Given the description of an element on the screen output the (x, y) to click on. 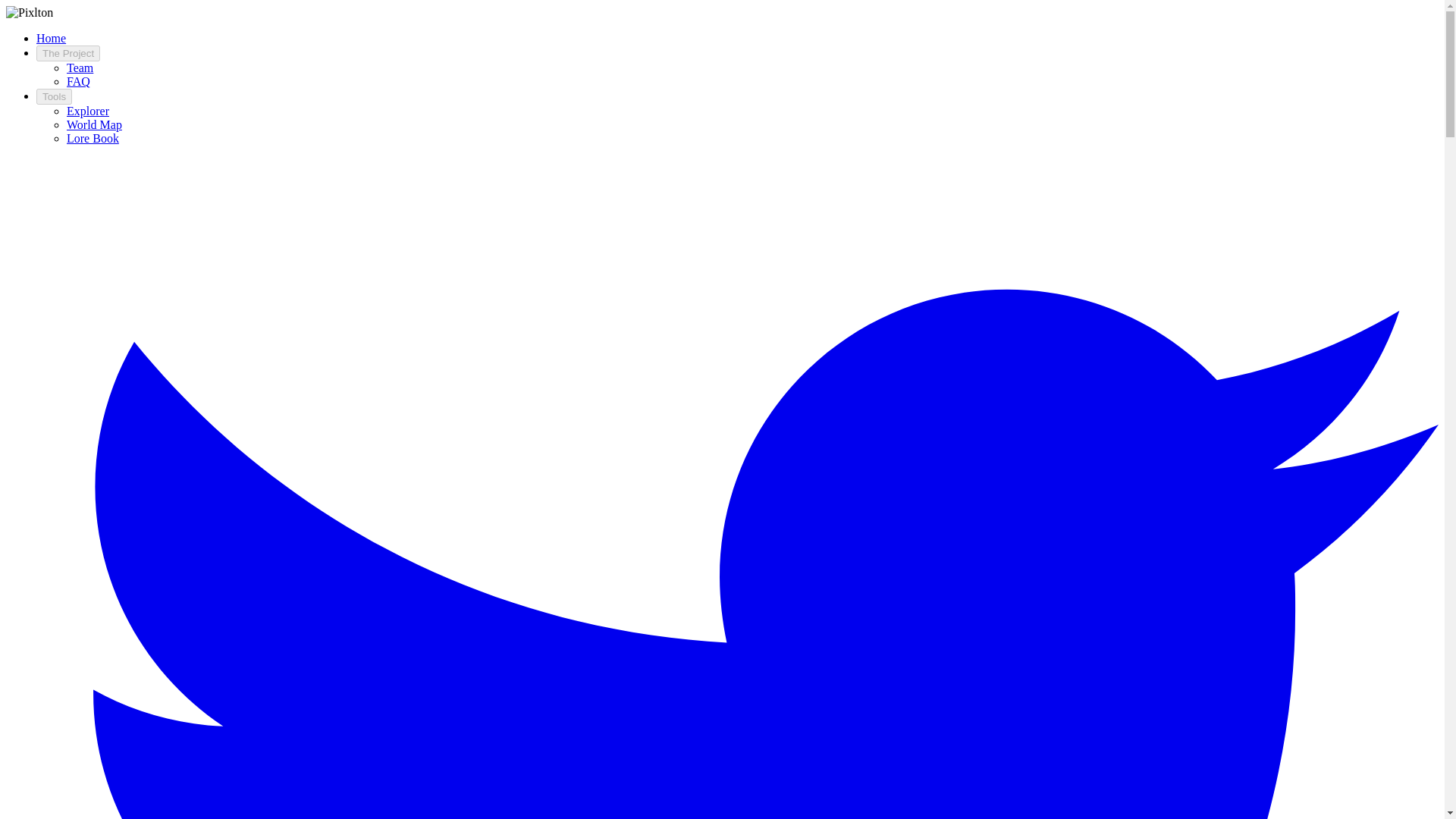
Team (79, 67)
World Map (94, 124)
Home (50, 38)
Lore Book (92, 137)
Explorer (87, 110)
The Project (68, 53)
FAQ (78, 81)
Tools (53, 96)
